Given the description of an element on the screen output the (x, y) to click on. 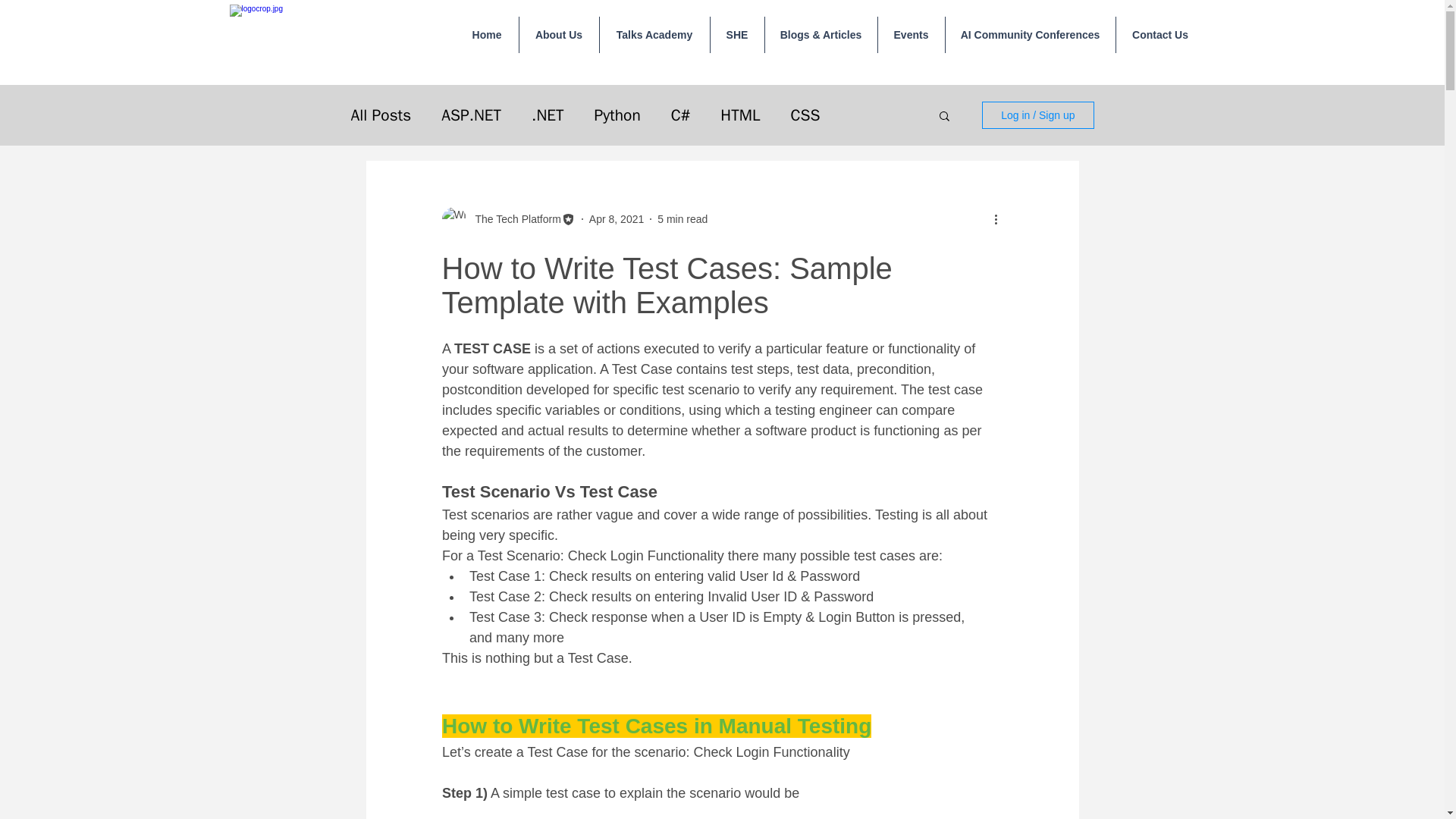
.NET (547, 115)
Home (486, 34)
AI Community Conferences (1029, 34)
The Tech Platform (512, 218)
CSS (804, 115)
5 min read (682, 218)
About Us (558, 34)
Talks Academy (653, 34)
All Posts (380, 115)
SHE (736, 34)
Python (617, 115)
Apr 8, 2021 (616, 218)
ASP.NET (470, 115)
Contact Us (1160, 34)
HTML (740, 115)
